Given the description of an element on the screen output the (x, y) to click on. 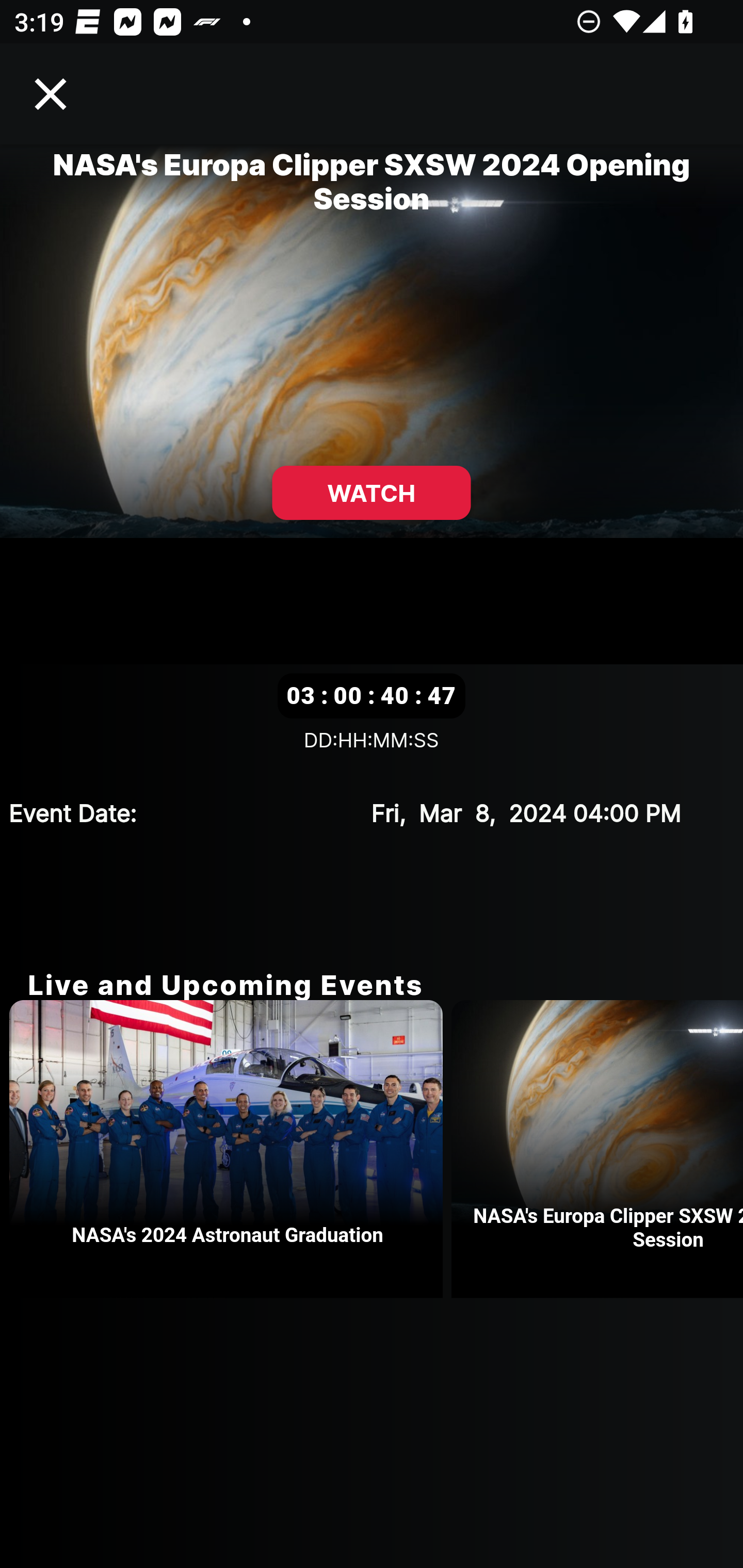
WATCH (371, 492)
NASA's 2024 Astronaut Graduation (229, 1149)
NASA's Europa Clipper SXSW 2024 Opening Session (597, 1149)
